Given the description of an element on the screen output the (x, y) to click on. 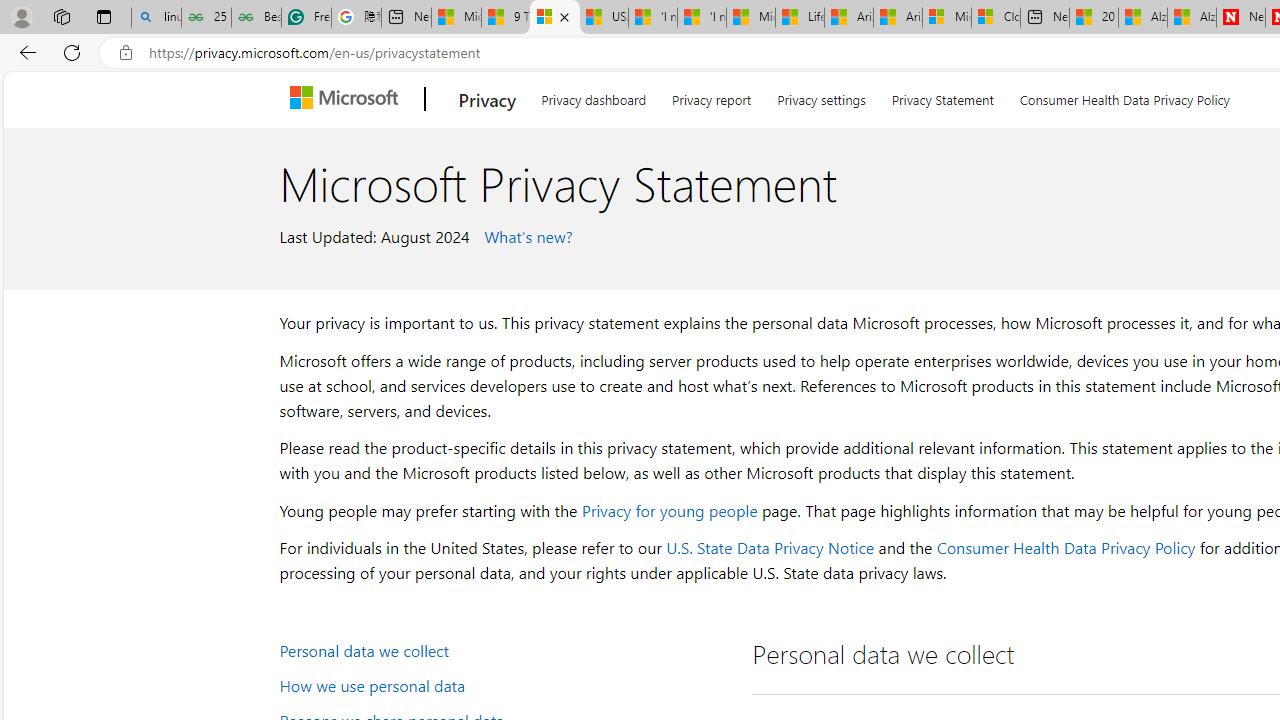
U.S. State Data Privacy Notice (770, 547)
USA TODAY - MSN (603, 17)
Lifestyle - MSN (799, 17)
 What's new? (525, 235)
Privacy dashboard (593, 96)
Consumer Health Data Privacy Policy (1065, 547)
How we use personal data (504, 684)
Consumer Health Data Privacy Policy (1124, 96)
